Given the description of an element on the screen output the (x, y) to click on. 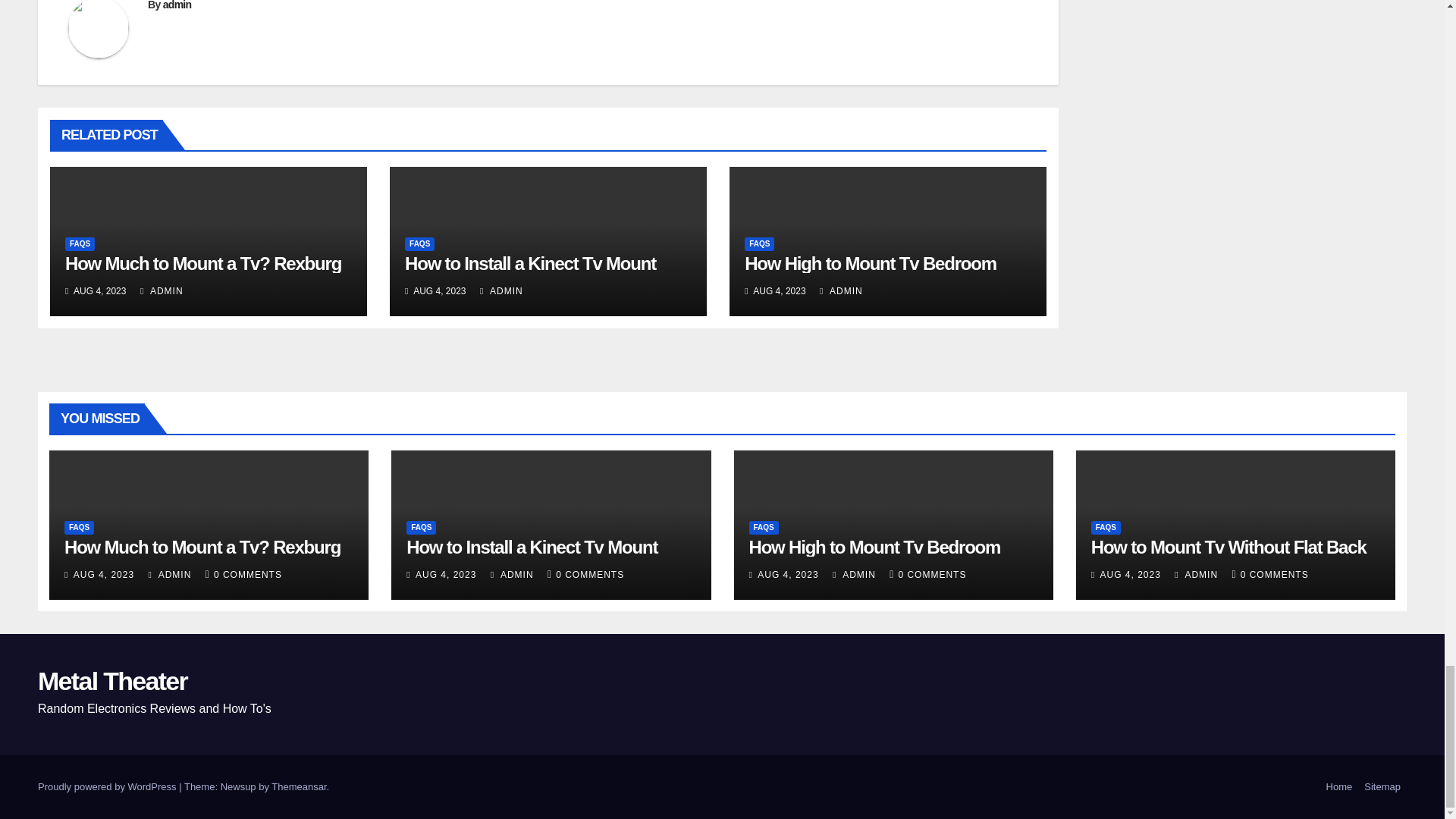
Permalink to: How Much to Mount a Tv? Rexburg (202, 263)
admin (177, 5)
Permalink to: How Much to Mount a Tv? Rexburg (202, 547)
Permalink to: How to Install a Kinect Tv Mount (530, 263)
Permalink to: How High to Mount Tv Bedroom (869, 263)
